Given the description of an element on the screen output the (x, y) to click on. 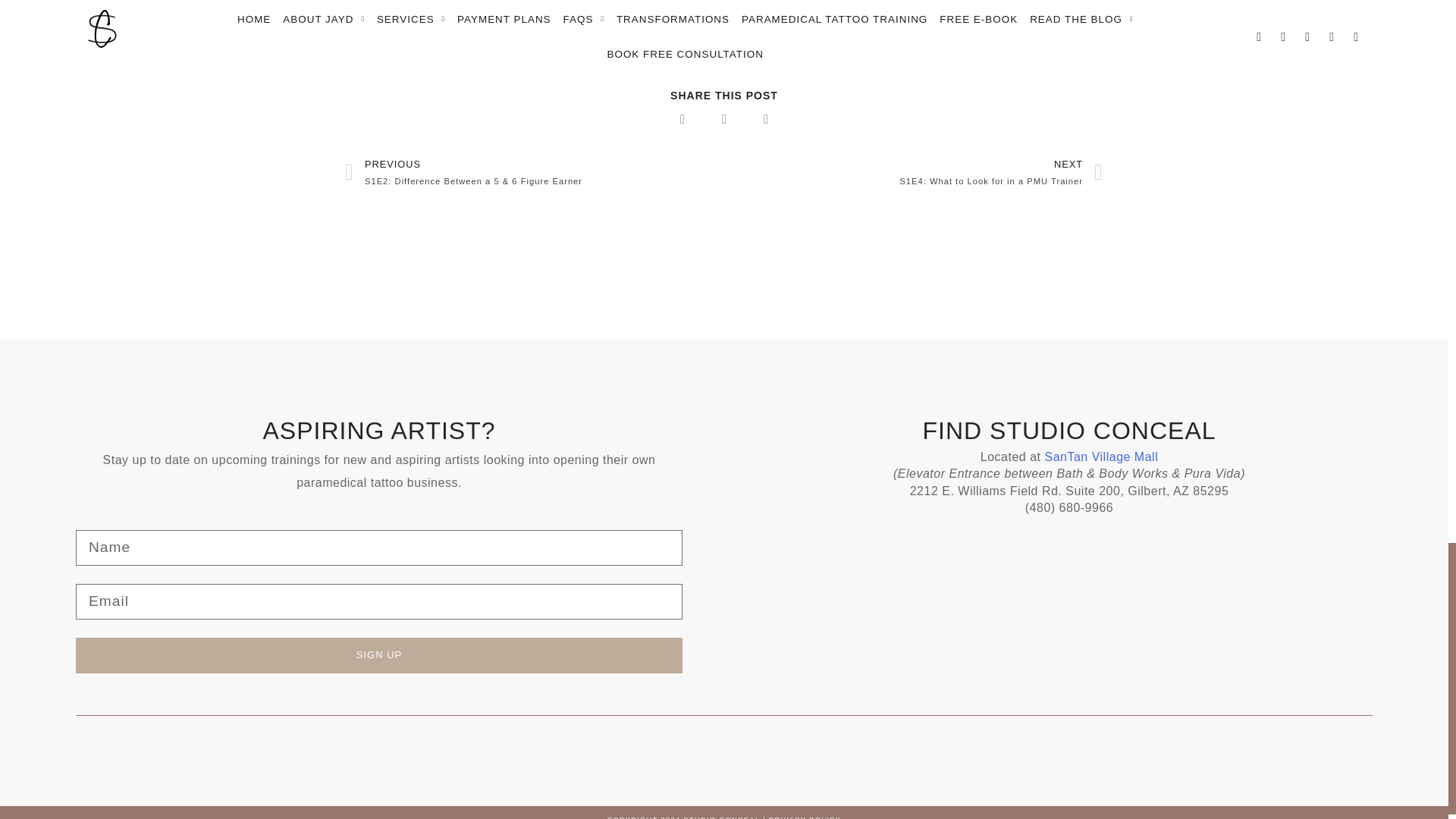
S1E4: What to Look for in a PMU Trainer (692, 8)
